Given the description of an element on the screen output the (x, y) to click on. 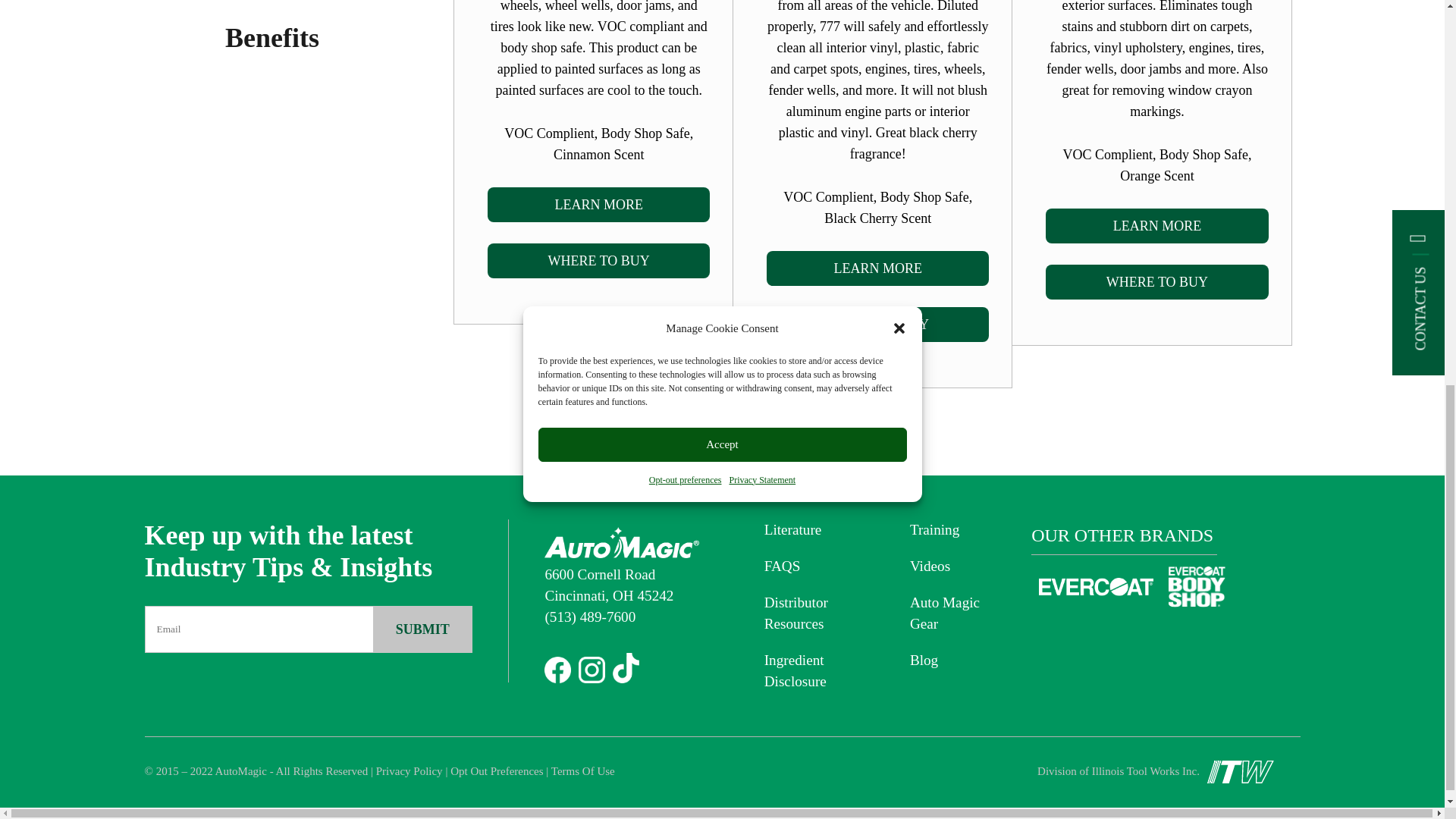
Submit (421, 629)
